Given the description of an element on the screen output the (x, y) to click on. 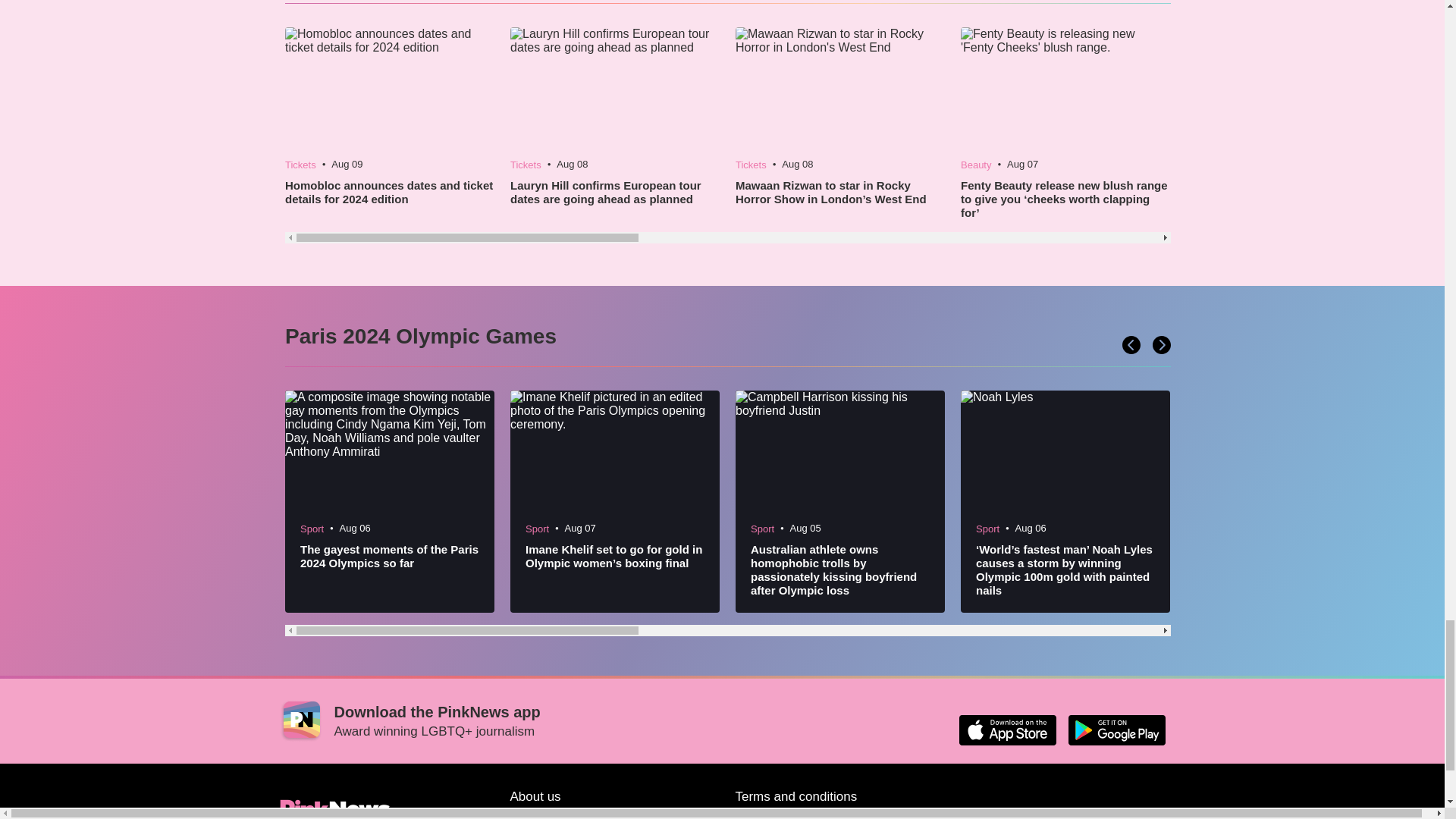
Subscribe to PinkNews on YouTube (1079, 812)
Follow PinkNews on TikTok (1042, 812)
Follow PinkNews on Facebook (1007, 812)
Follow PinkNews on Instagram (1116, 812)
Follow PinkNews on Twitter (970, 812)
Download the PinkNews app on the Apple App Store (1006, 729)
Download the PinkNews app on Google Play (1115, 729)
